Given the description of an element on the screen output the (x, y) to click on. 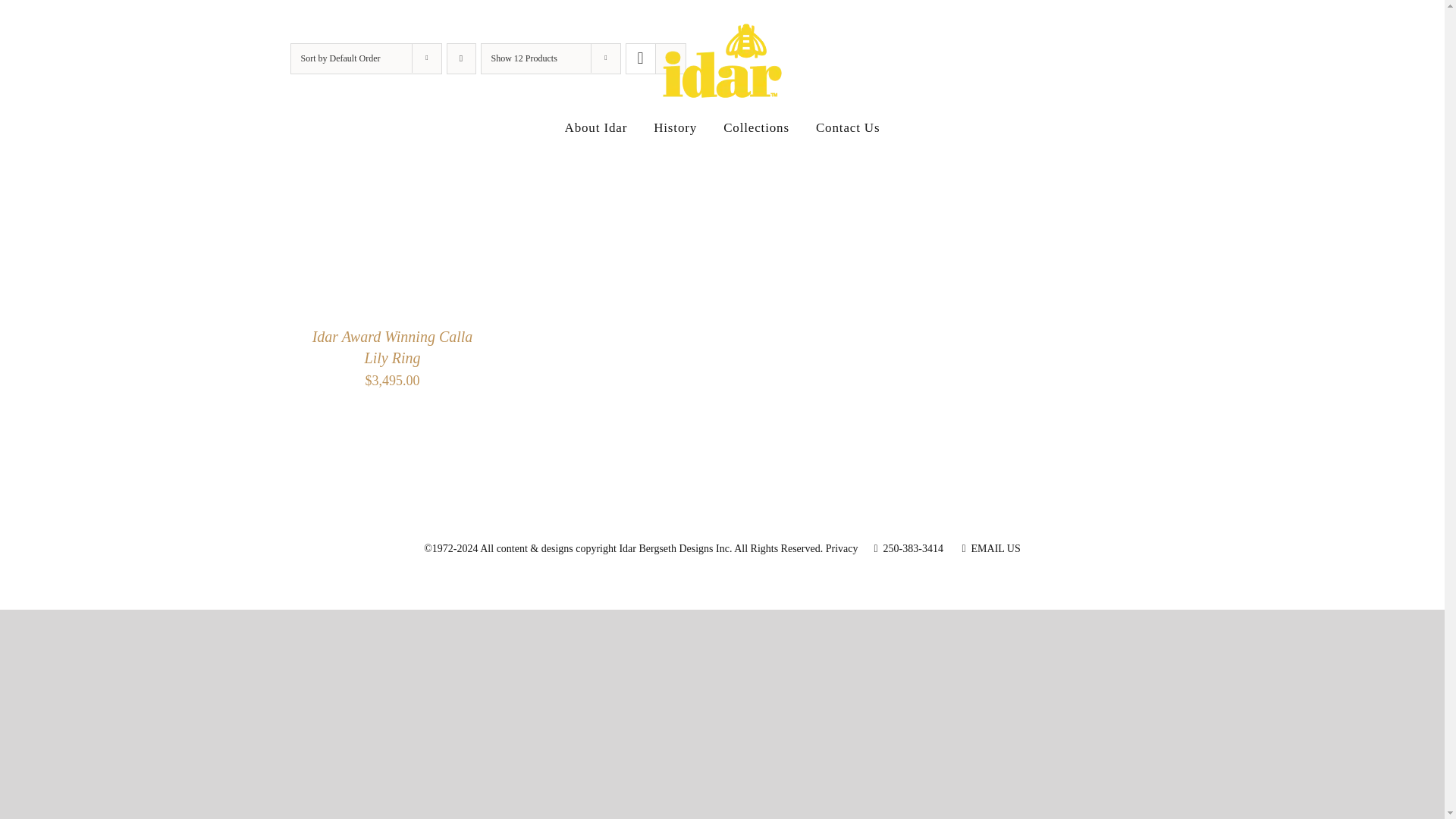
Idar Award Winning Calla Lily Ring (393, 347)
Show 12 Products (524, 58)
History (675, 127)
Contact Us (847, 127)
Collections (756, 127)
Privacy (842, 548)
About Idar (595, 127)
Sort by Default Order (339, 58)
  EMAIL US (990, 548)
  250-383-3414 (907, 548)
